Given the description of an element on the screen output the (x, y) to click on. 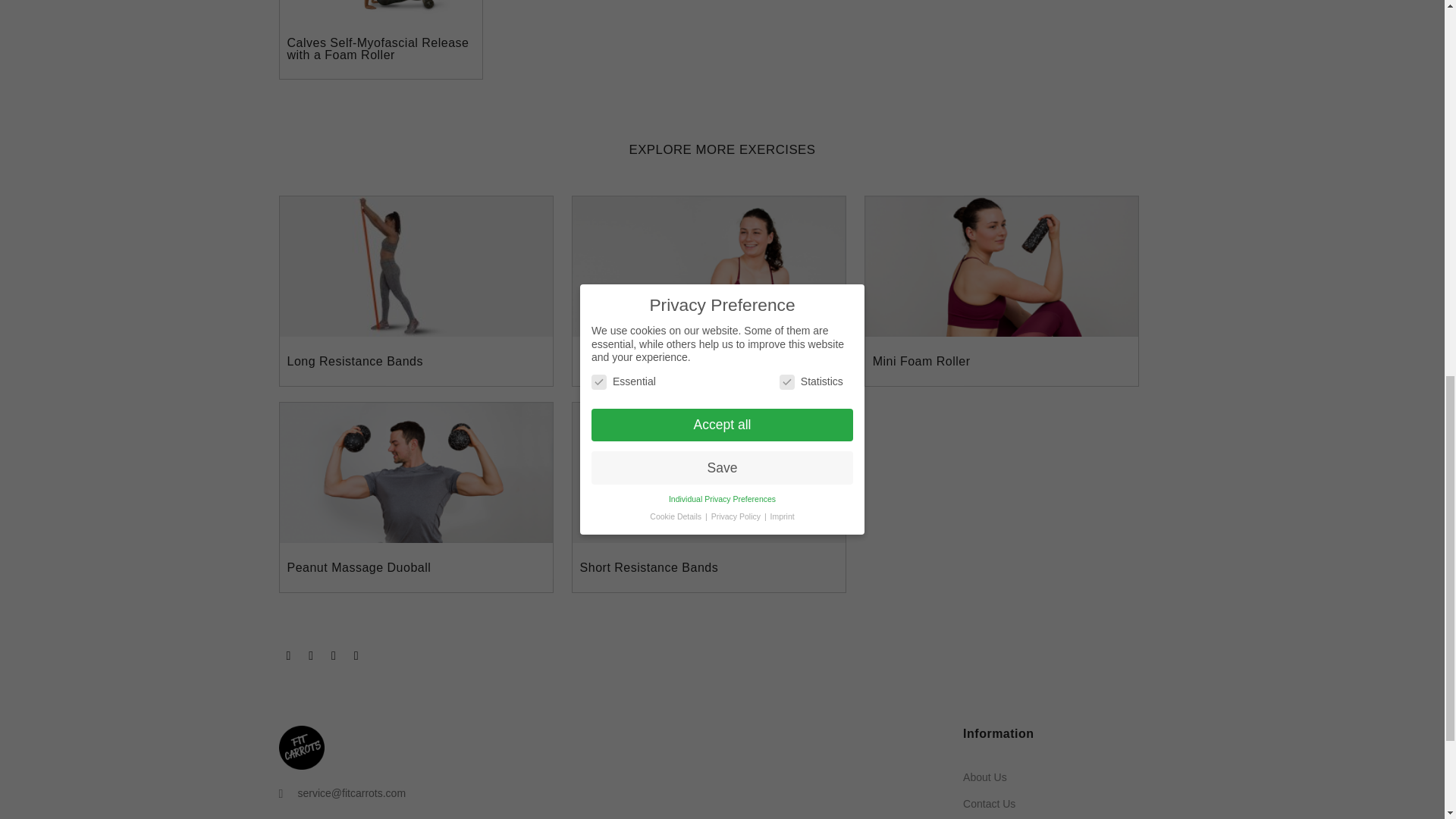
Massage Balls (621, 360)
Long Resistance Bands (354, 360)
Calves Self-Myofascial Release with a Foam Roller (377, 48)
